Given the description of an element on the screen output the (x, y) to click on. 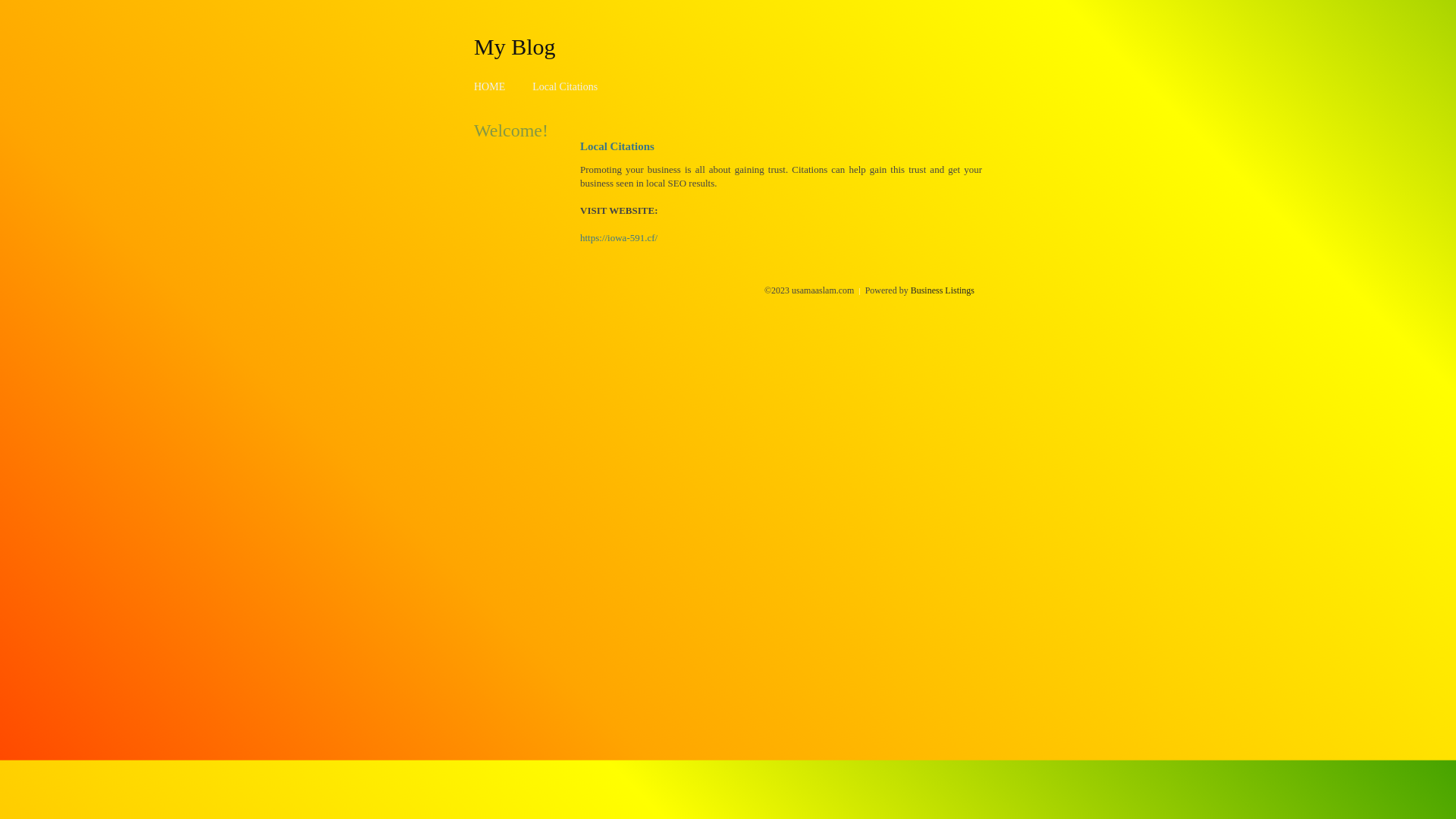
https://iowa-591.cf/ Element type: text (618, 237)
HOME Element type: text (489, 86)
My Blog Element type: text (514, 46)
Local Citations Element type: text (564, 86)
Business Listings Element type: text (942, 290)
